Given the description of an element on the screen output the (x, y) to click on. 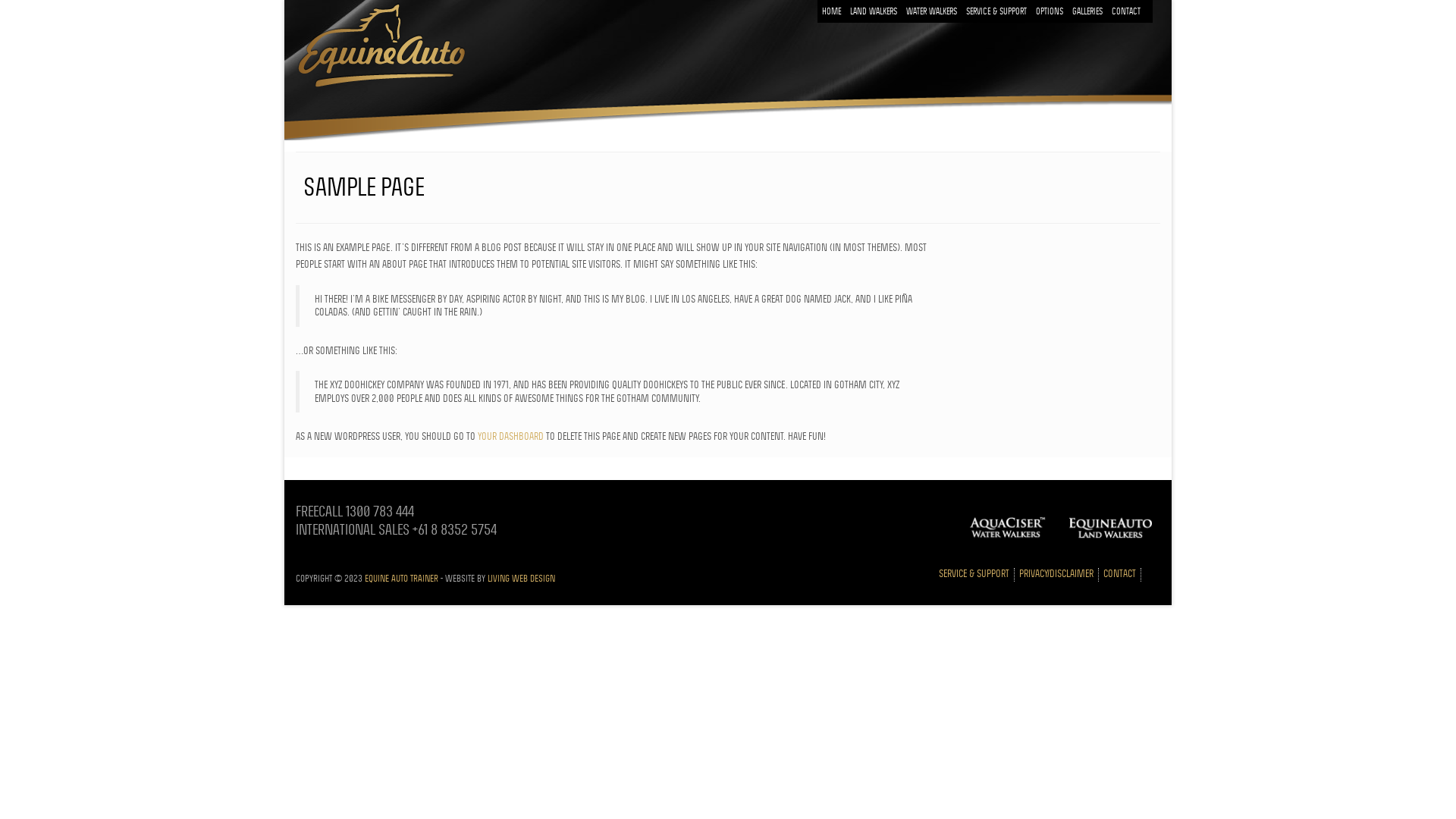
Privacy/Disclaimer Element type: text (1056, 574)
Home Element type: text (831, 11)
your dashboard Element type: text (510, 435)
Service & Support Element type: text (973, 574)
Contact Element type: text (1119, 574)
Service & Support Element type: text (996, 11)
Galleries Element type: text (1087, 11)
Equine Auto Trainer Element type: text (401, 578)
Land Walkers Element type: text (873, 11)
Options Element type: text (1049, 11)
Water Walkers Element type: text (931, 11)
Living Web Design Element type: text (521, 578)
Contact Element type: text (1126, 11)
